Given the description of an element on the screen output the (x, y) to click on. 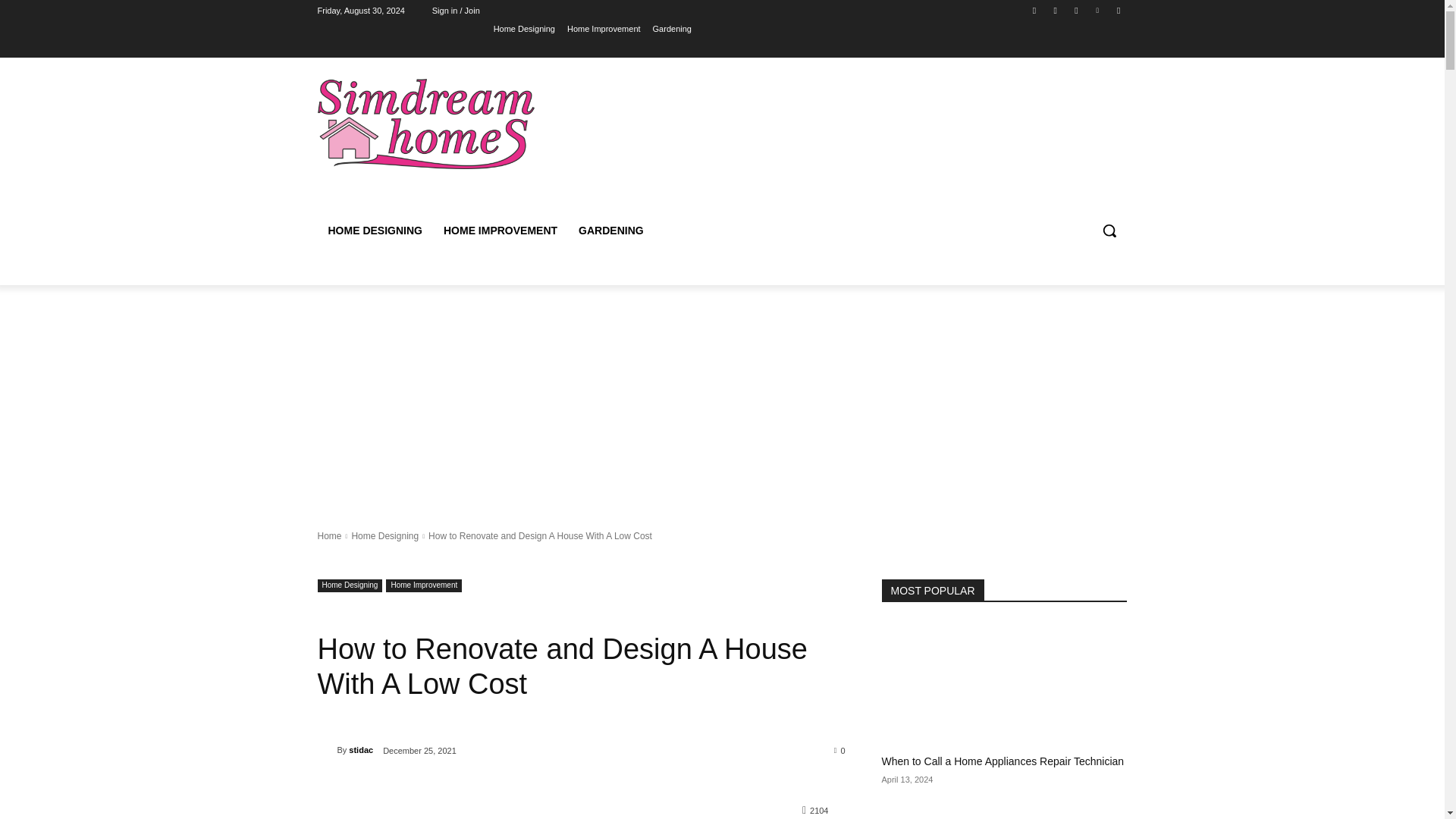
0 (839, 749)
Home Improvement (423, 585)
Home Designing (523, 28)
Home Improvement (603, 28)
Facebook (1034, 9)
Gardening (671, 28)
Instagram (1055, 9)
Twitter (1075, 9)
Home Designing (384, 535)
Youtube (1117, 9)
